Given the description of an element on the screen output the (x, y) to click on. 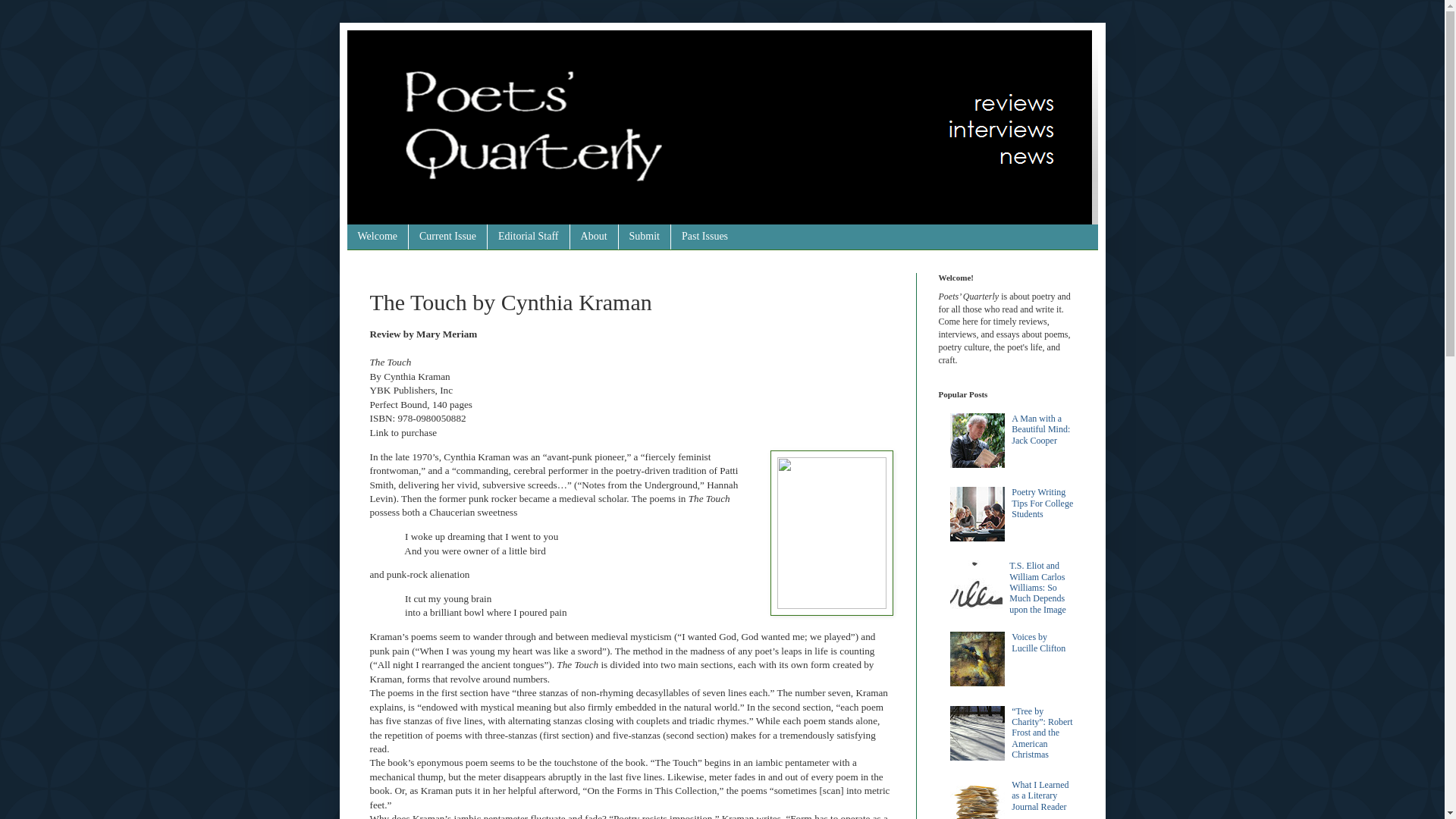
Current Issue (446, 236)
Past Issues (703, 236)
Poetry Writing Tips For College Students (1042, 502)
Voices by Lucille Clifton (1038, 641)
Editorial Staff (527, 236)
Welcome (378, 236)
About (593, 236)
Submit (643, 236)
What I Learned as a Literary Journal Reader (1039, 795)
